Given the description of an element on the screen output the (x, y) to click on. 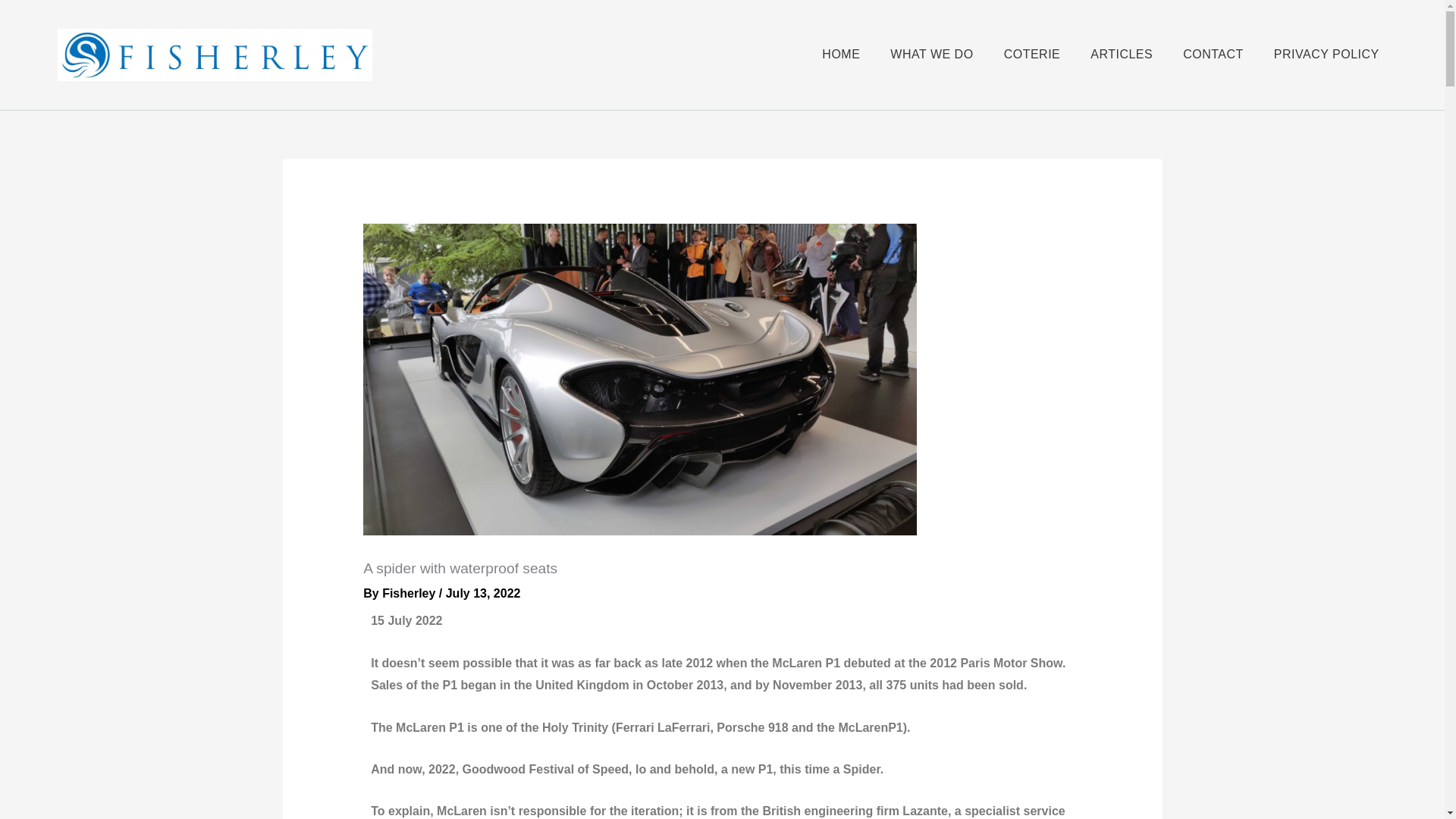
HOME (841, 54)
WHAT WE DO (930, 54)
View all posts by Fisherley (410, 593)
Fisherley (410, 593)
ARTICLES (1121, 54)
COTERIE (1032, 54)
CONTACT (1212, 54)
PRIVACY POLICY (1326, 54)
